Given the description of an element on the screen output the (x, y) to click on. 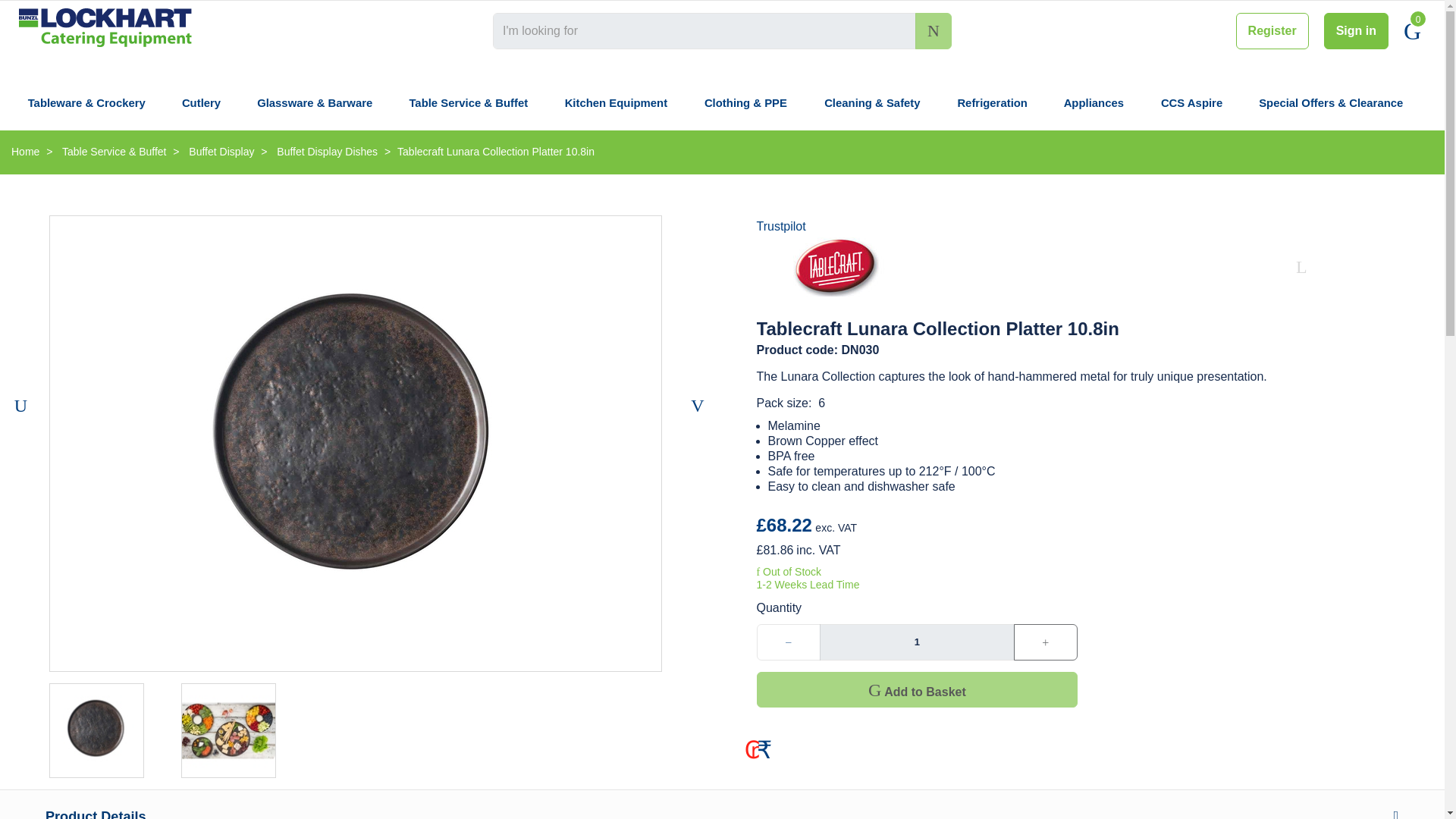
Lockhart (105, 27)
Sign in (1356, 31)
1 (916, 642)
0 (1412, 30)
Register (1272, 31)
